Given the description of an element on the screen output the (x, y) to click on. 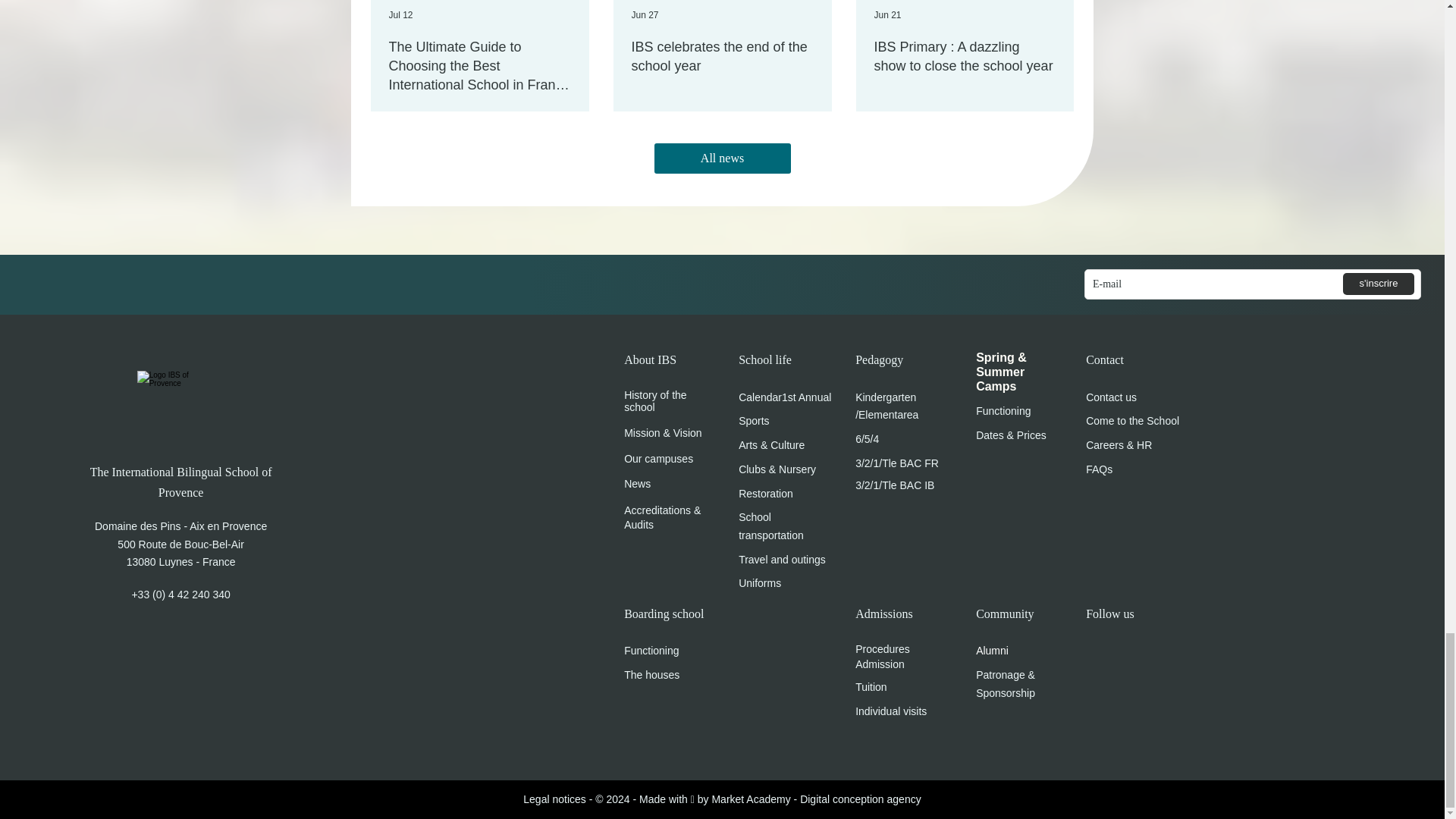
Jul 12 (400, 14)
Jun 21 (887, 14)
Jun 27 (644, 14)
